Given the description of an element on the screen output the (x, y) to click on. 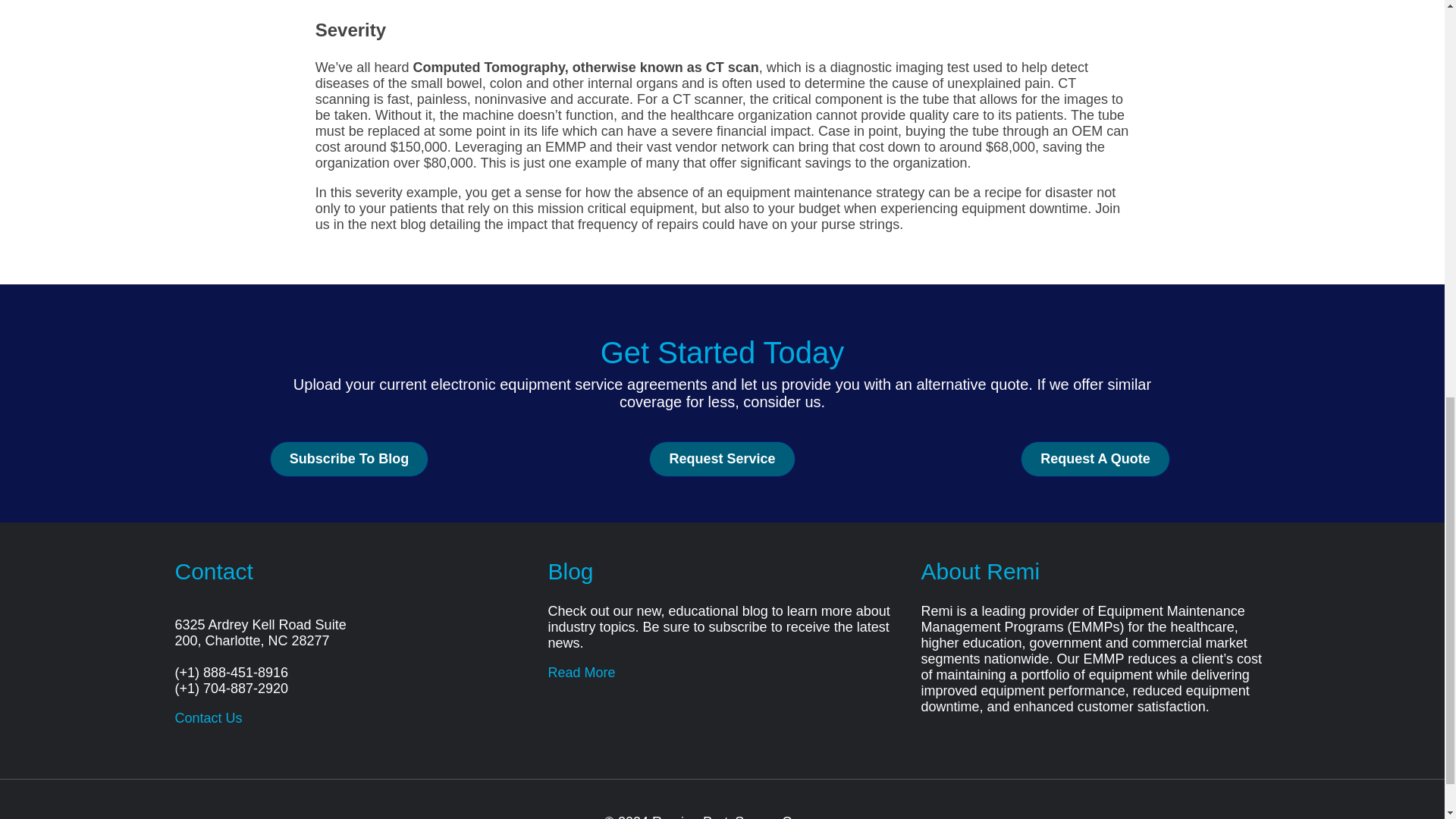
Request A Quote (1095, 458)
Request Service (721, 458)
Access our Blog (580, 671)
Read More (580, 671)
Subscribe To Blog (349, 458)
Contact Us (207, 717)
